Given the description of an element on the screen output the (x, y) to click on. 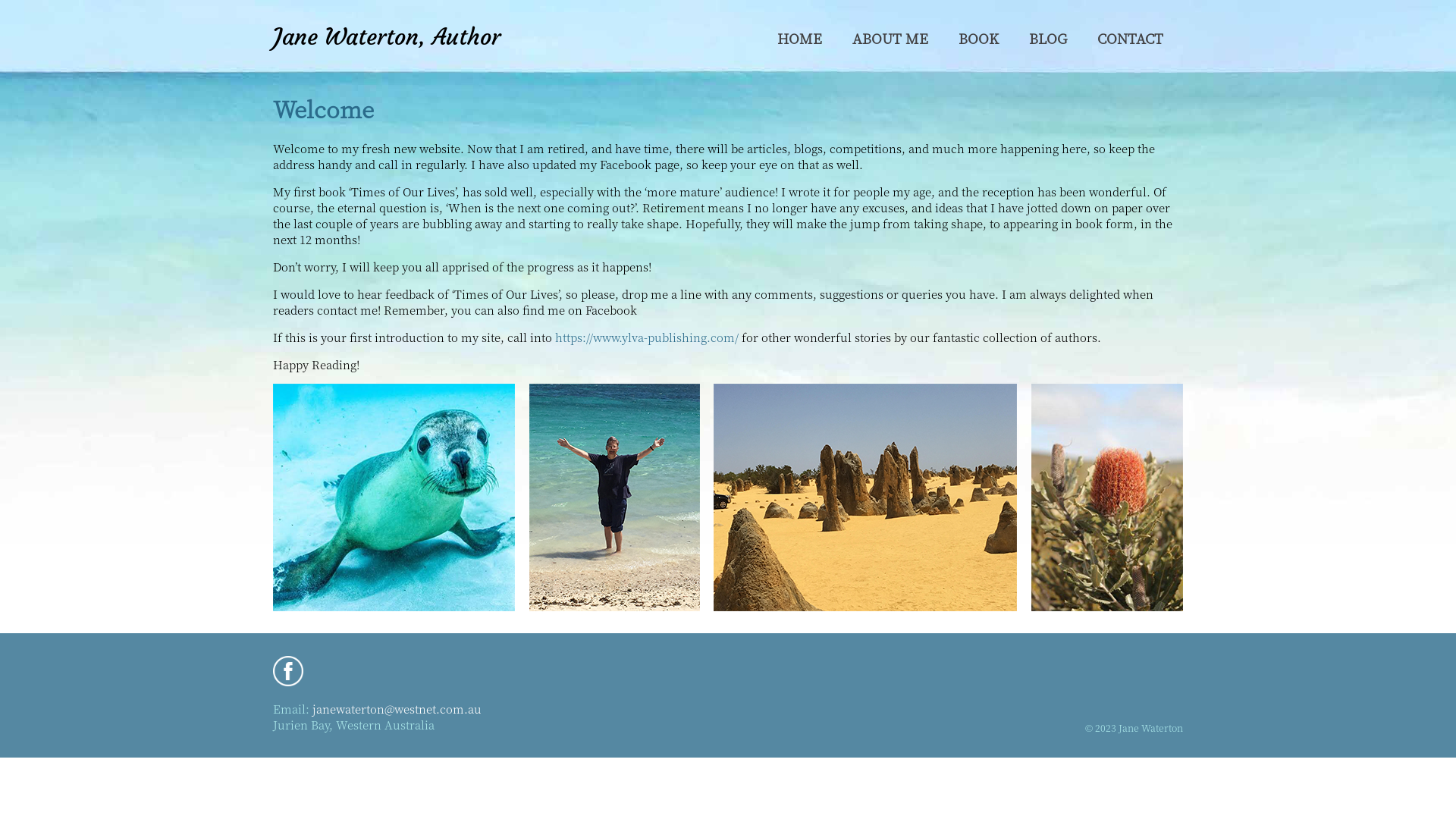
janewaterton@westnet.com.au Element type: text (396, 708)
BOOK Element type: text (978, 37)
ABOUT ME Element type: text (890, 37)
CONTACT Element type: text (1130, 37)
https://www.ylva-publishing.com/ Element type: text (646, 337)
HOME Element type: text (799, 37)
BLOG Element type: text (1047, 37)
